Given the description of an element on the screen output the (x, y) to click on. 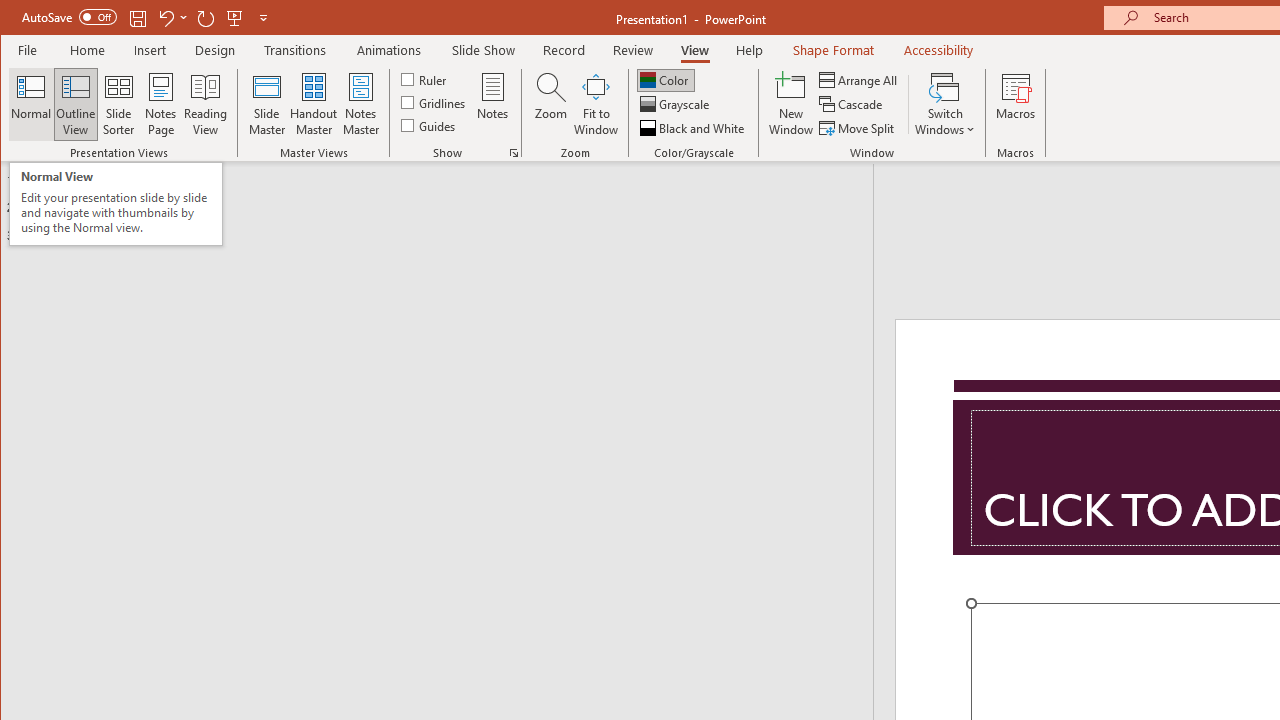
Move Split (858, 127)
Grid Settings... (513, 152)
